Given the description of an element on the screen output the (x, y) to click on. 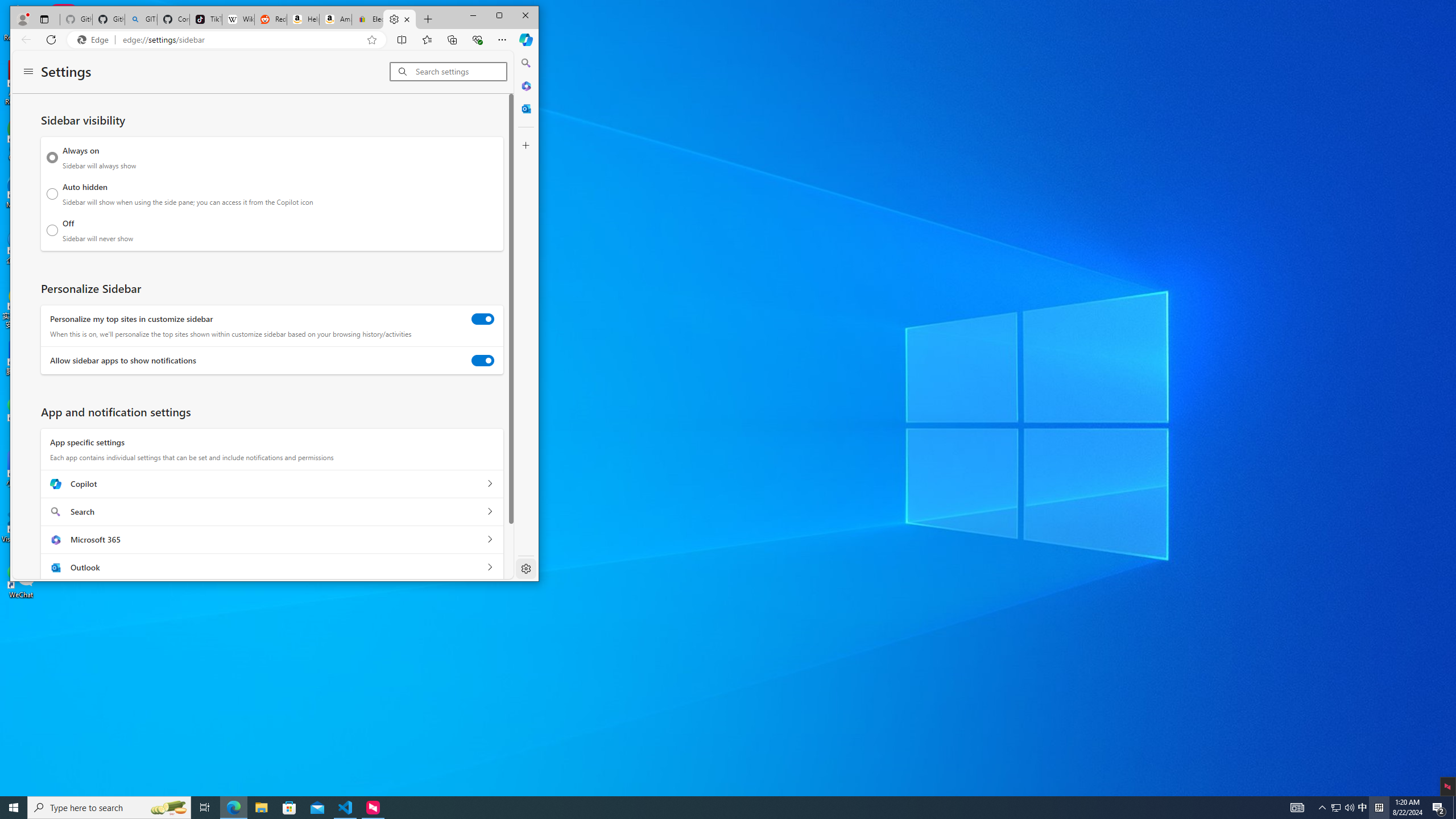
GITHUB - Search (140, 19)
Search settings (461, 71)
Copilot (489, 483)
AutomationID: 4105 (1297, 807)
